Given the description of an element on the screen output the (x, y) to click on. 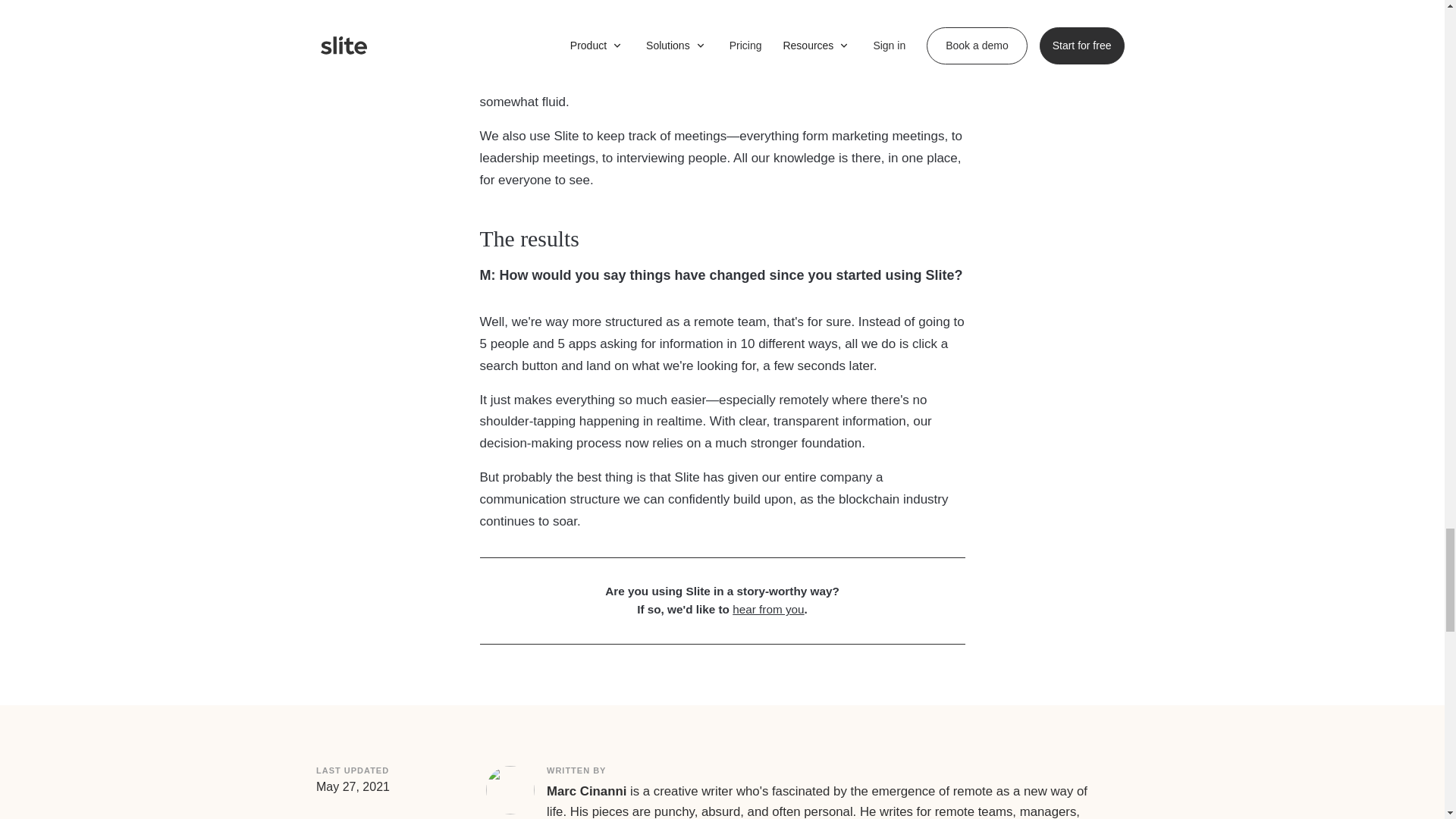
hear from you (767, 608)
